Given the description of an element on the screen output the (x, y) to click on. 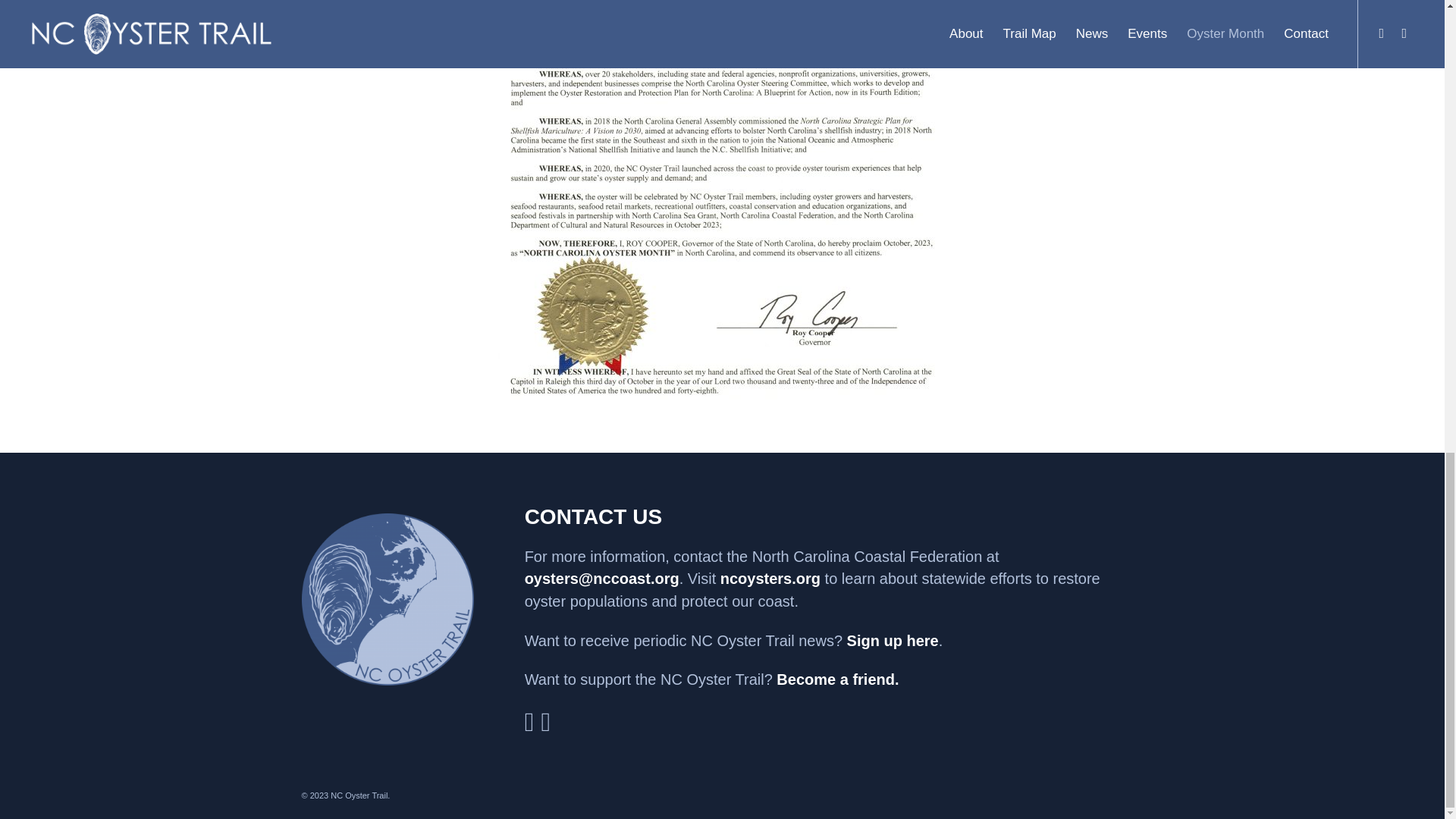
Become a friend. (837, 678)
ncoysters.org (770, 578)
Sign up here (893, 640)
